Given the description of an element on the screen output the (x, y) to click on. 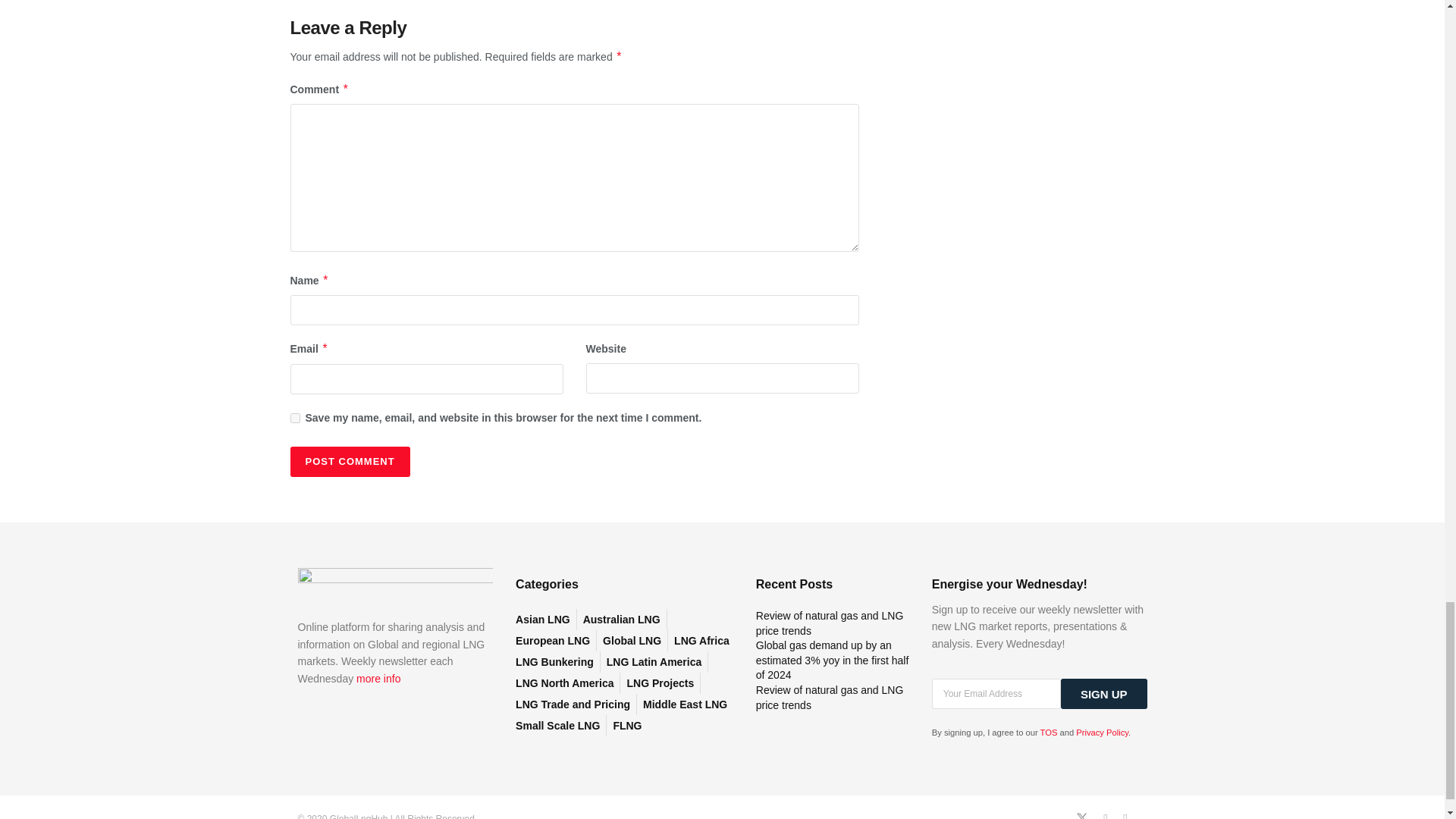
yes (294, 418)
Post Comment (349, 461)
Privacy Policy (1101, 732)
